Given the description of an element on the screen output the (x, y) to click on. 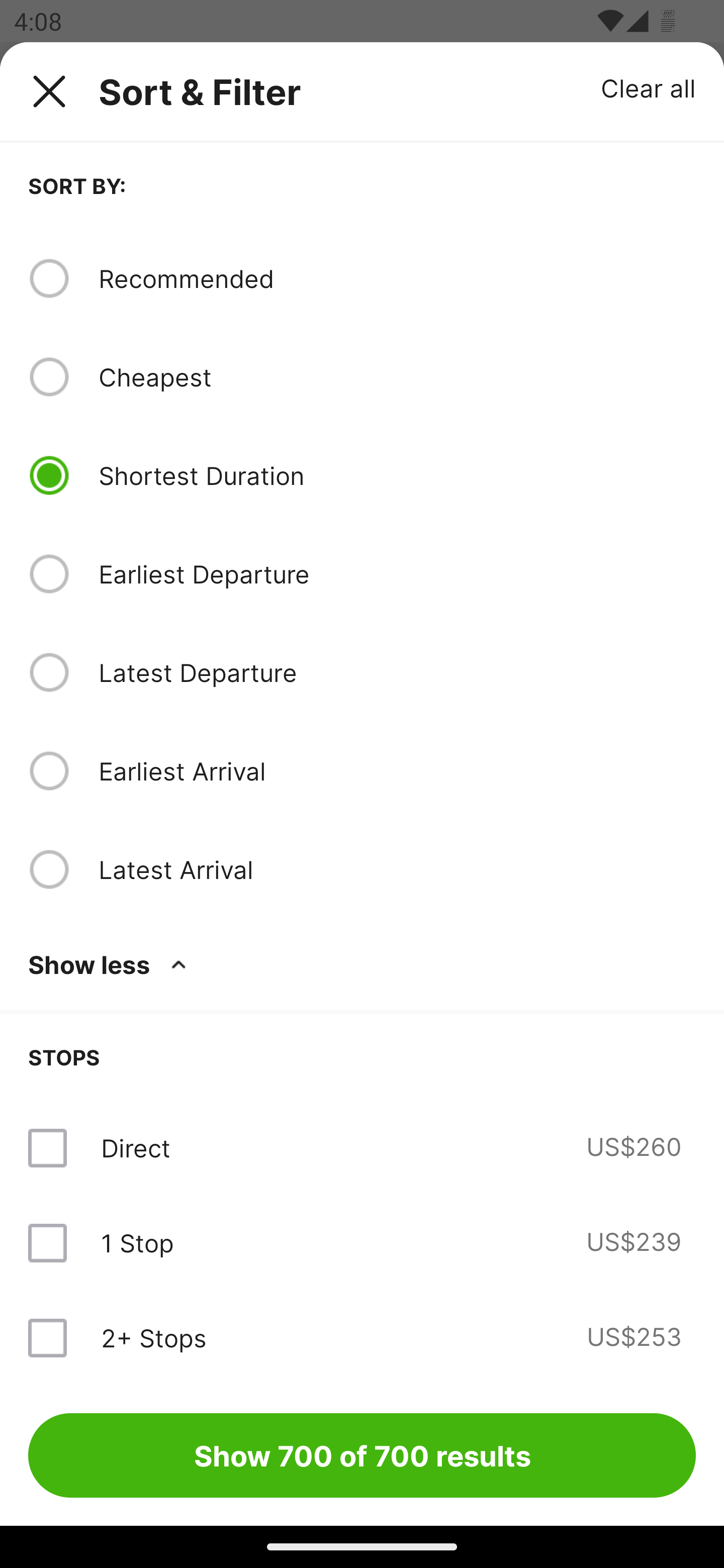
Clear all (648, 87)
Recommended  (396, 278)
Cheapest (396, 377)
Shortest Duration (396, 474)
Earliest Departure (396, 573)
Latest Departure (396, 672)
Earliest Arrival (396, 770)
Latest Arrival (396, 869)
Show less (110, 964)
Direct US$260 (362, 1147)
Direct (135, 1147)
1 Stop US$239 (362, 1242)
1 Stop (136, 1242)
2+ Stops US$253 (362, 1337)
2+ Stops (153, 1337)
Show 700 of 700 results (361, 1454)
